Given the description of an element on the screen output the (x, y) to click on. 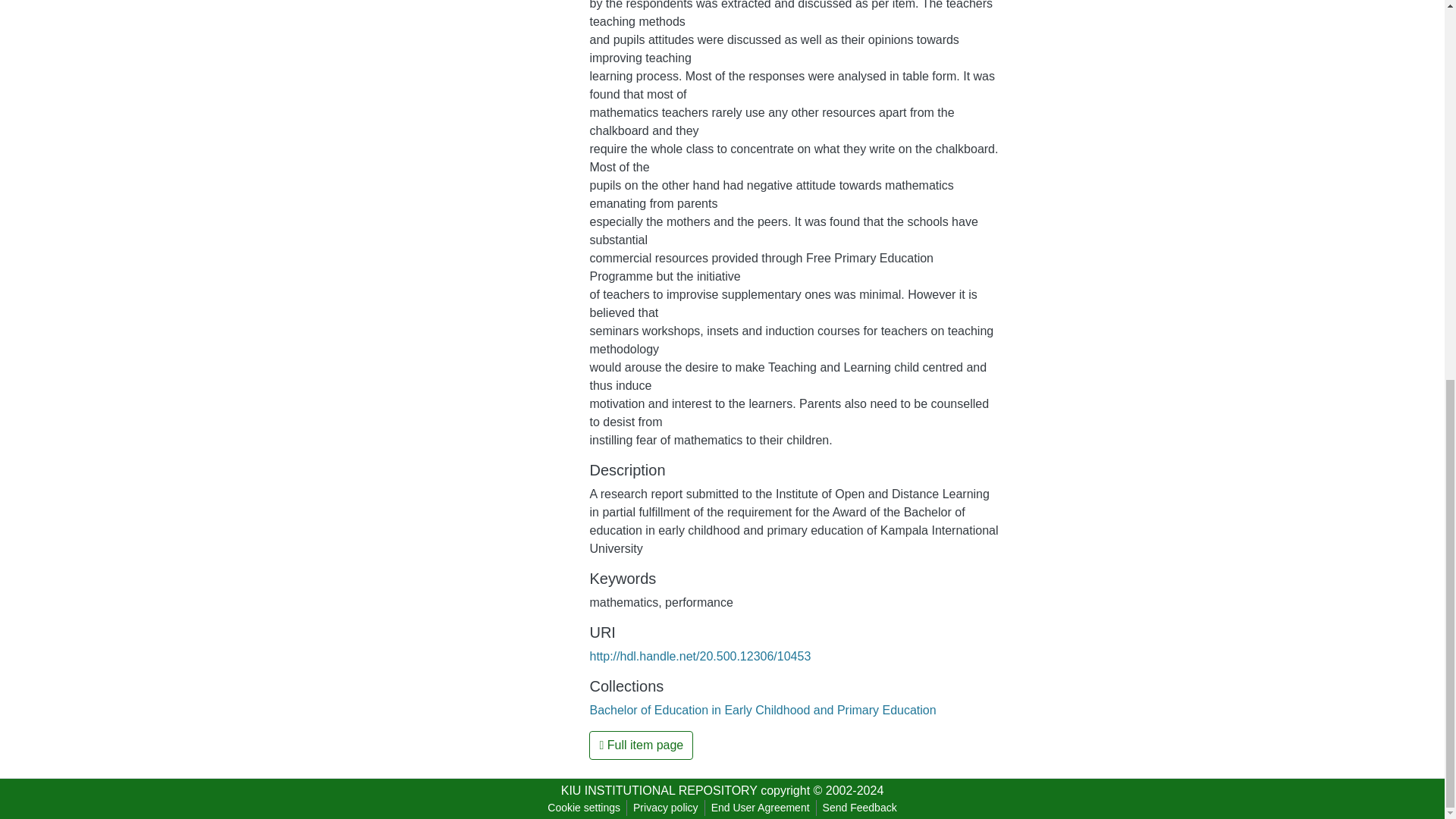
End User Agreement (759, 807)
Full item page (641, 745)
KIU INSTITUTIONAL REPOSITORY (658, 789)
Send Feedback (859, 807)
Privacy policy (665, 807)
Cookie settings (583, 807)
